Given the description of an element on the screen output the (x, y) to click on. 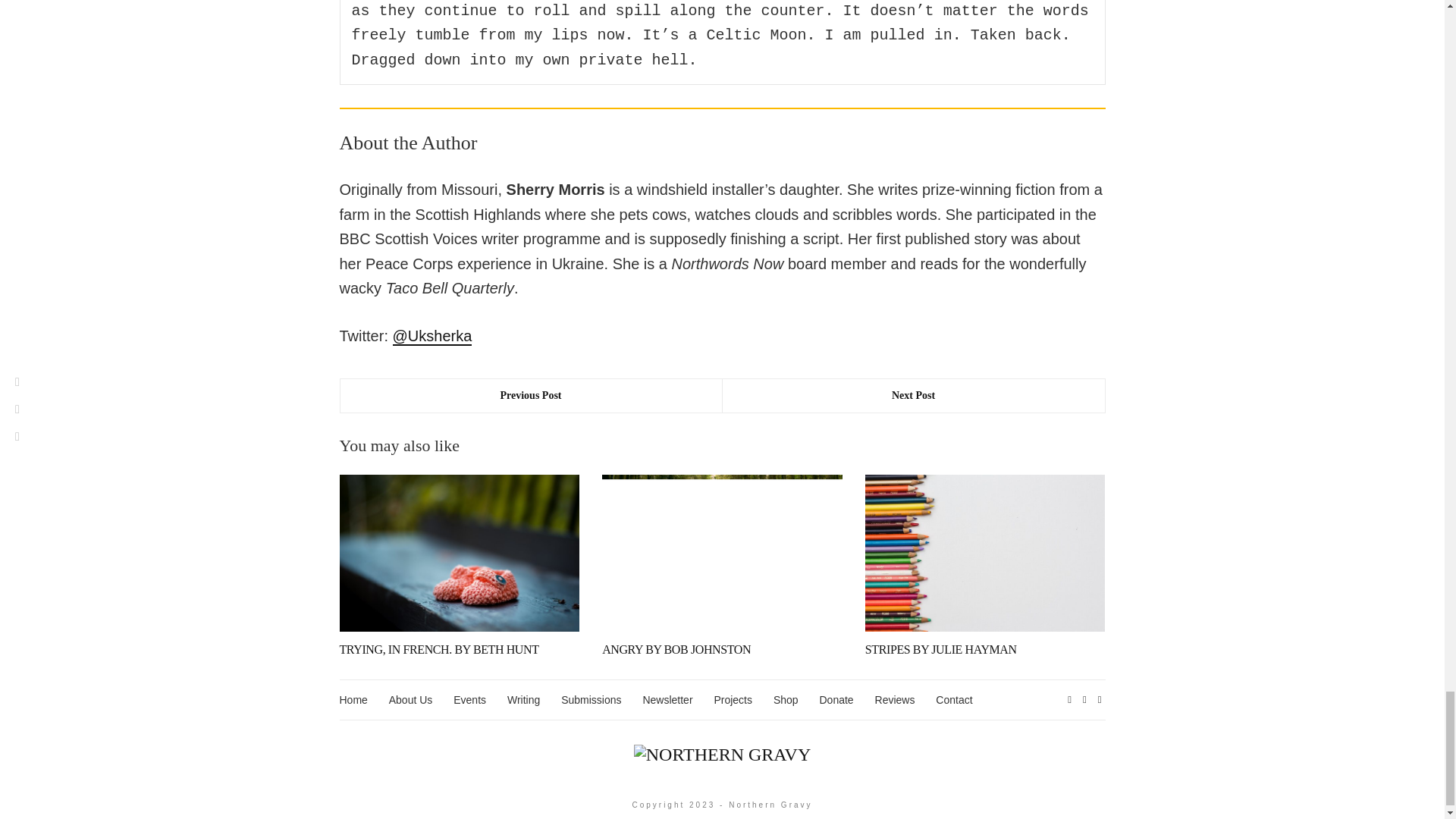
ANGRY BY BOB JOHNSTON (676, 649)
STRIPES BY JULIE HAYMAN (940, 649)
Home (353, 700)
TRYING, IN FRENCH. BY BETH HUNT (438, 649)
Previous Post (530, 395)
Next Post (912, 395)
